Given the description of an element on the screen output the (x, y) to click on. 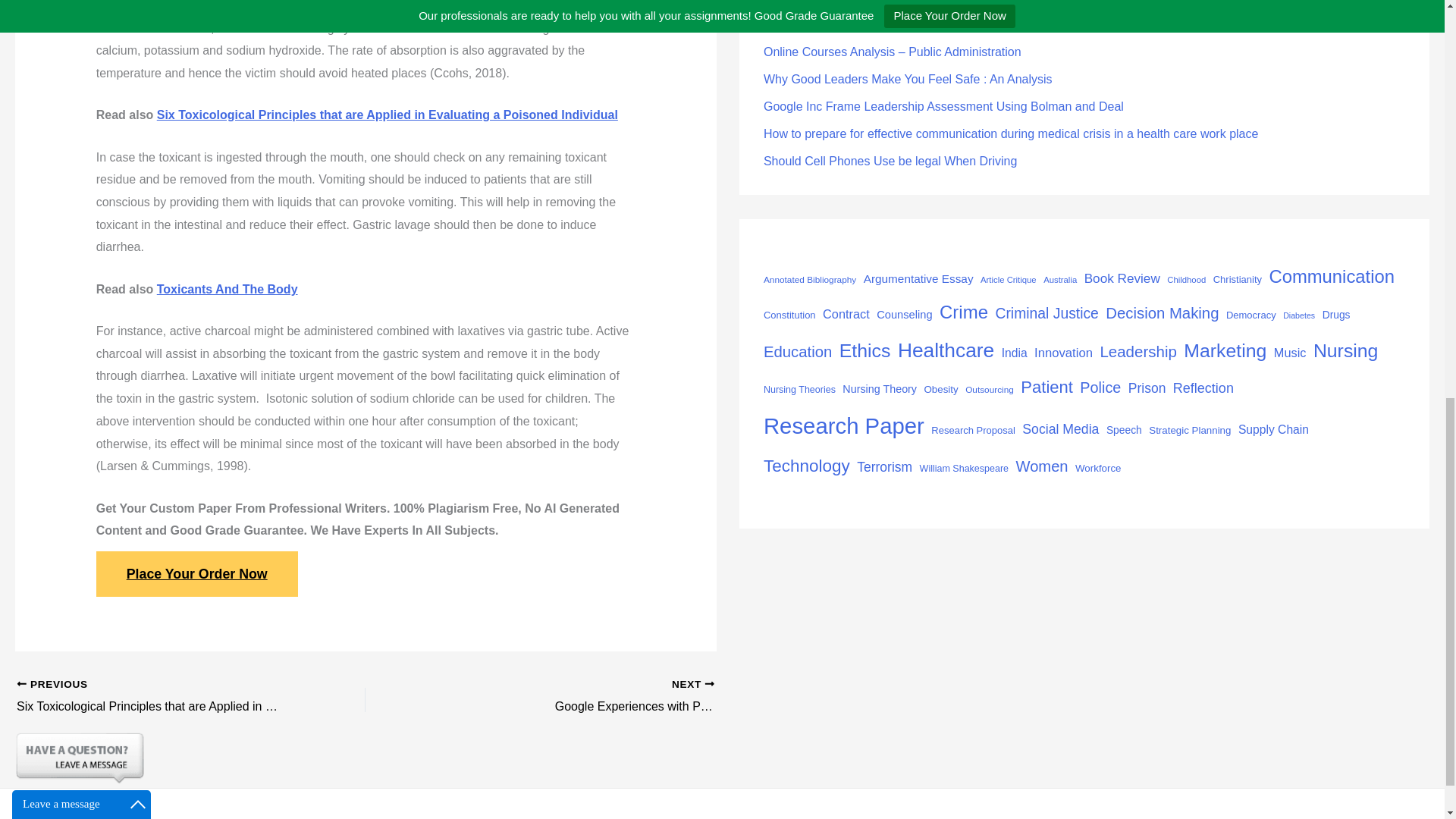
Diabetes (1298, 315)
Criminal Justice (1045, 314)
Counseling (903, 314)
Google Inc Frame Leadership Assessment Using Bolman and Deal (943, 106)
Christianity (1237, 279)
Annotated Bibliography (809, 280)
Drugs (1336, 314)
Place Your Order Now (197, 574)
Argumentative Essay (918, 279)
Democracy (1250, 315)
Google Experiences with People Analytics (627, 696)
Book Review (1122, 278)
